Given the description of an element on the screen output the (x, y) to click on. 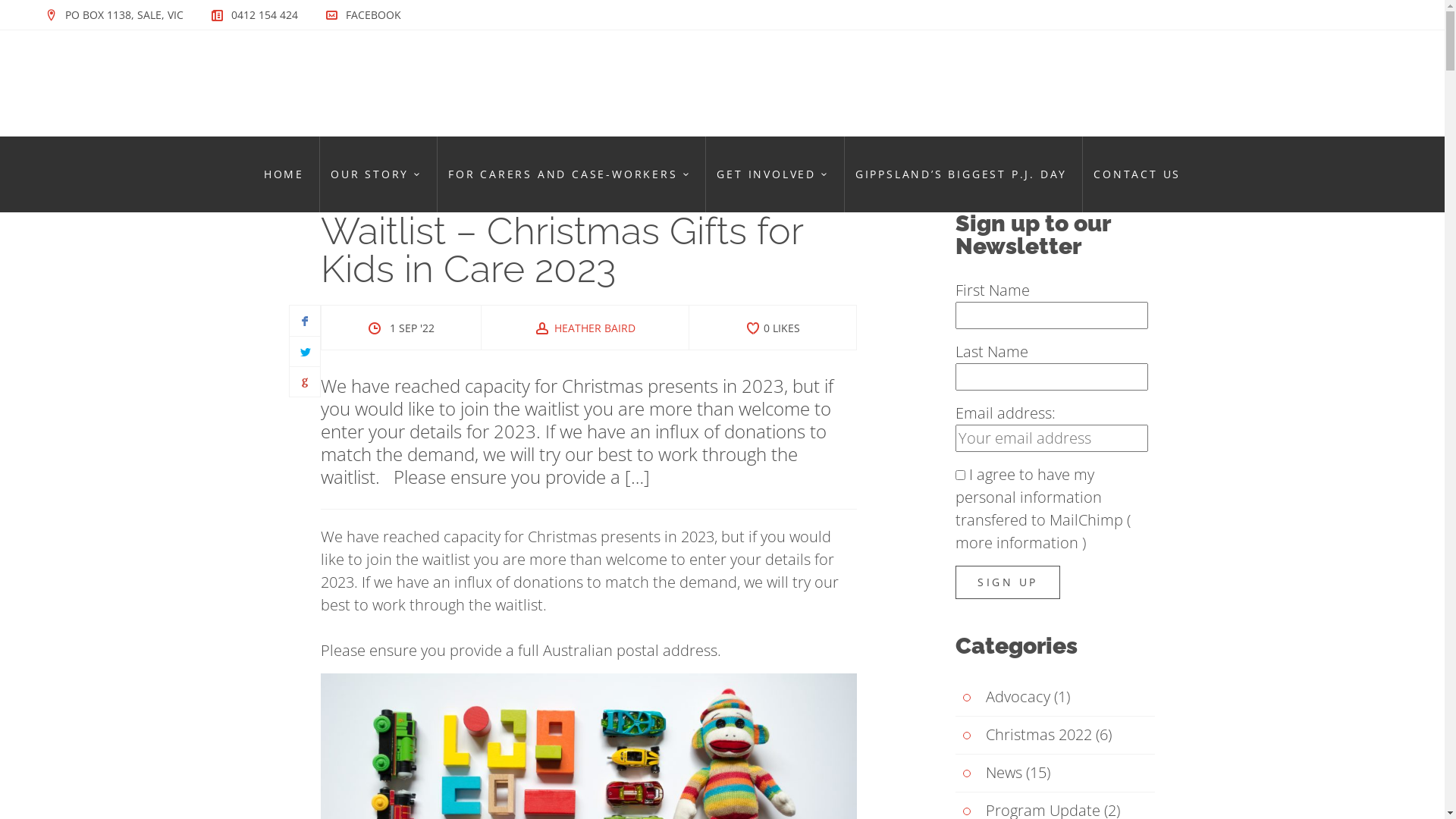
GET INVOLVED Element type: text (772, 174)
HOME Element type: text (283, 174)
HEATHER BAIRD Element type: text (584, 327)
Sign up Element type: text (1007, 582)
Advocacy Element type: text (1002, 696)
CONTACT US Element type: text (1137, 174)
FOR CARERS AND CASE-WORKERS Element type: text (568, 174)
News Element type: text (988, 772)
FACEBOOK Element type: text (373, 14)
OUR STORY Element type: text (376, 174)
Christmas 2022 Element type: text (1023, 734)
